Given the description of an element on the screen output the (x, y) to click on. 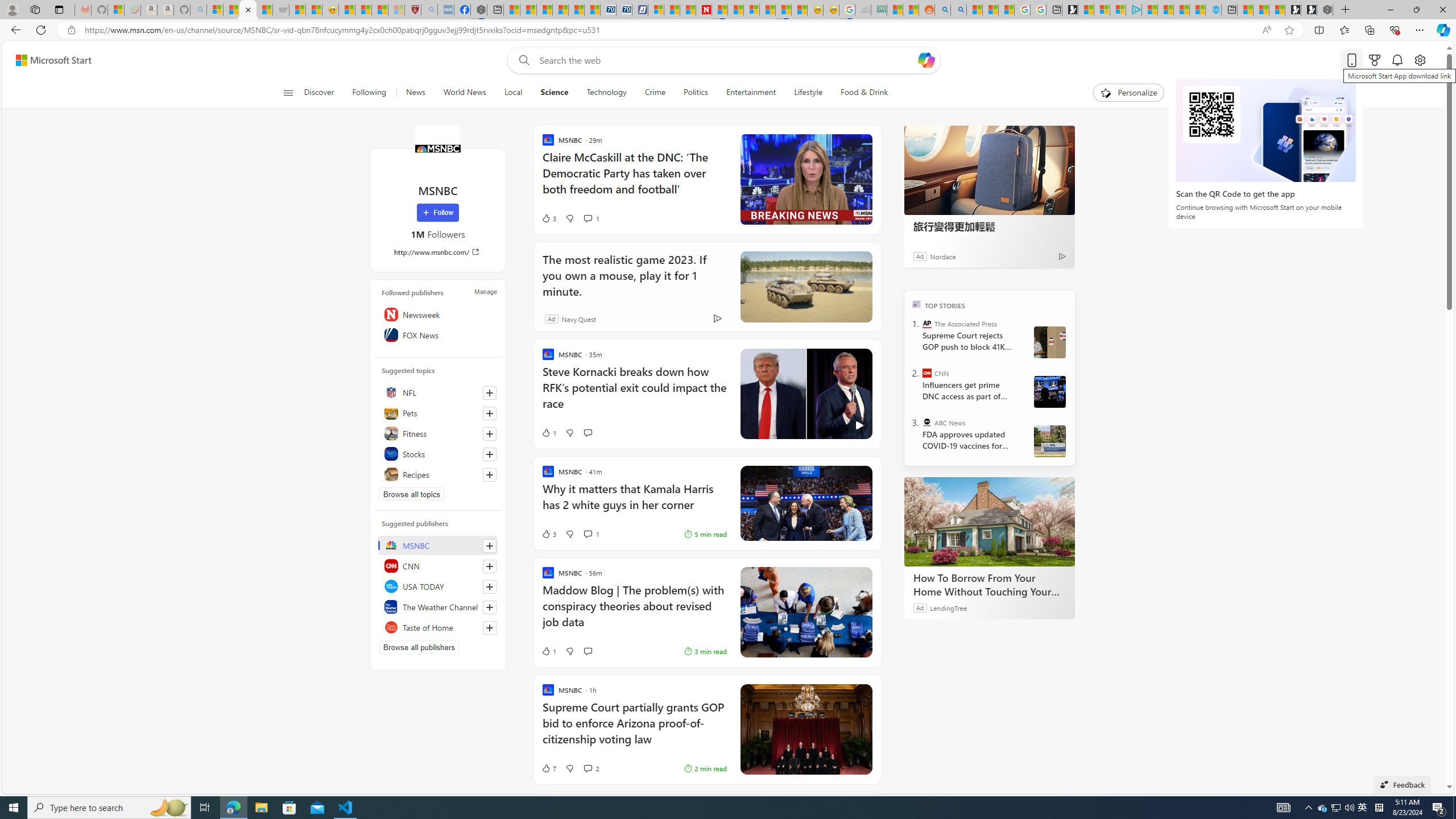
Home | Sky Blue Bikes - Sky Blue Bikes (1213, 9)
1 Like (547, 650)
14 Common Myths Debunked By Scientific Facts (735, 9)
View comments 2 Comment (587, 768)
3 Like (547, 533)
